Given the description of an element on the screen output the (x, y) to click on. 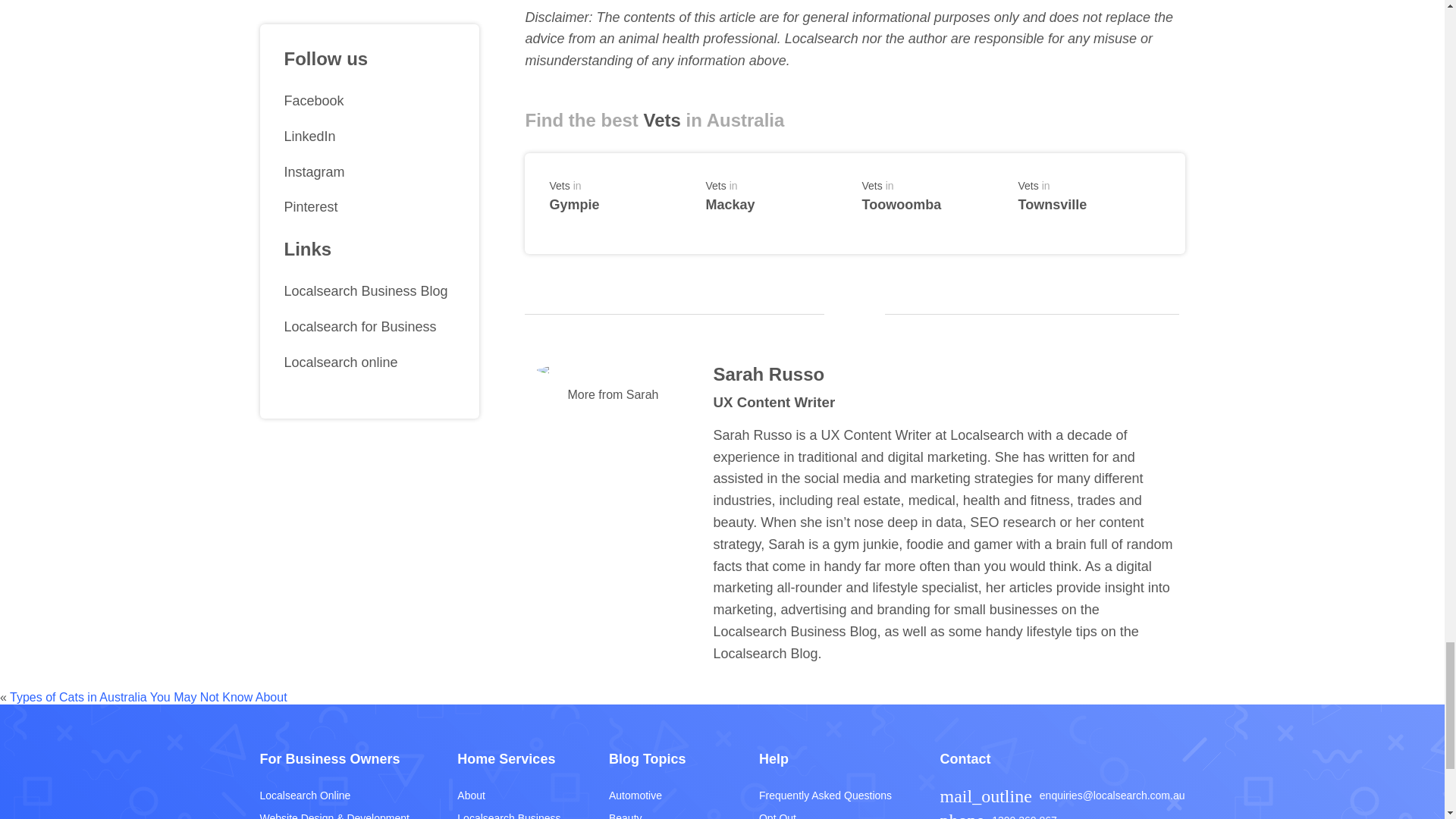
More from Sarah (775, 194)
